Given the description of an element on the screen output the (x, y) to click on. 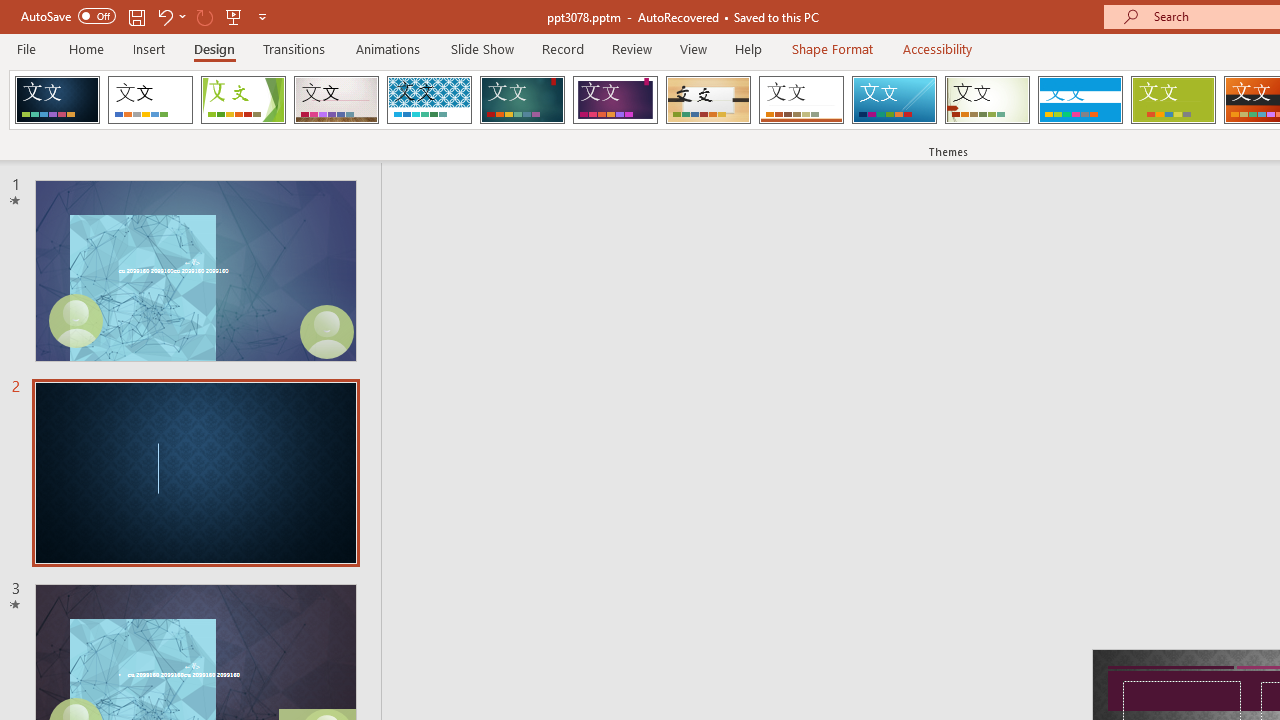
Banded (1080, 100)
Dividend (57, 100)
Gallery (336, 100)
More Options (182, 15)
Organic (708, 100)
Slice (893, 100)
Accessibility (937, 48)
Slide (195, 473)
